Given the description of an element on the screen output the (x, y) to click on. 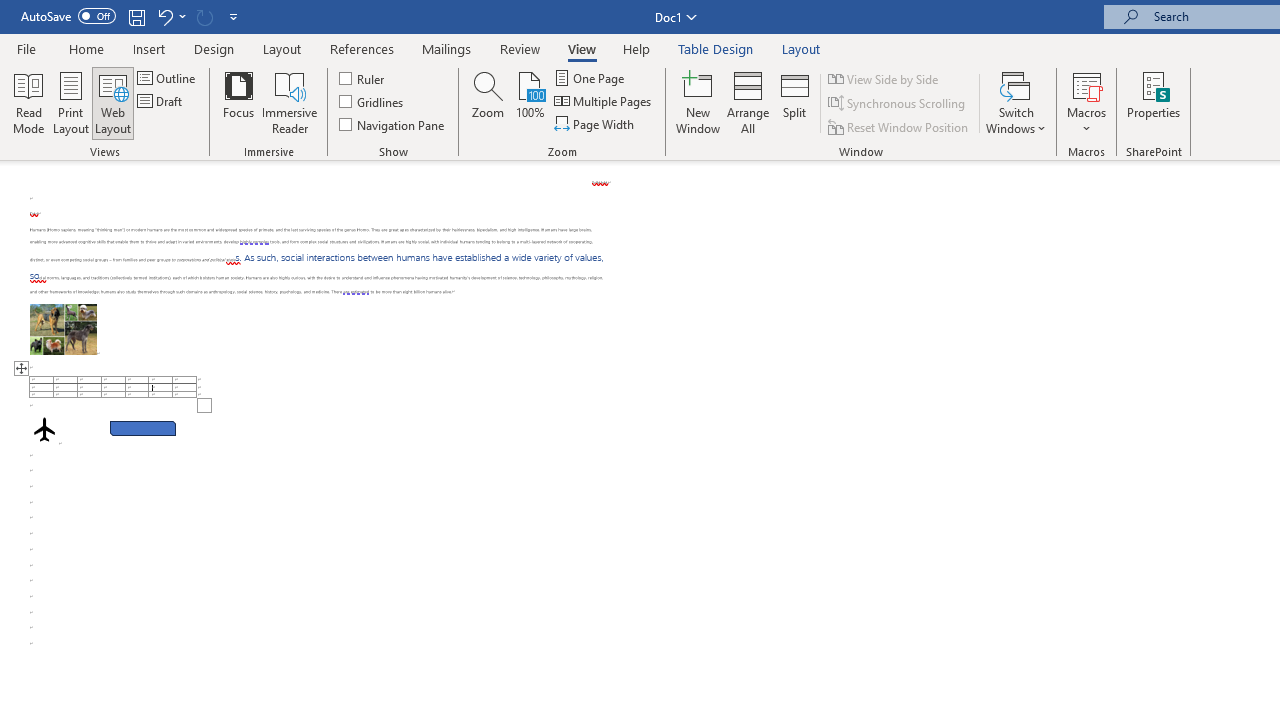
Draft (161, 101)
Insert (149, 48)
Split (795, 102)
Multiple Pages (603, 101)
Synchronous Scrolling (898, 103)
System (10, 11)
Layout (801, 48)
New Window (698, 102)
Table Design (715, 48)
Mailings (447, 48)
Customize Quick Access Toolbar (234, 15)
Macros (1086, 102)
Immersive Reader (289, 102)
100% (529, 102)
Outline (168, 78)
